Given the description of an element on the screen output the (x, y) to click on. 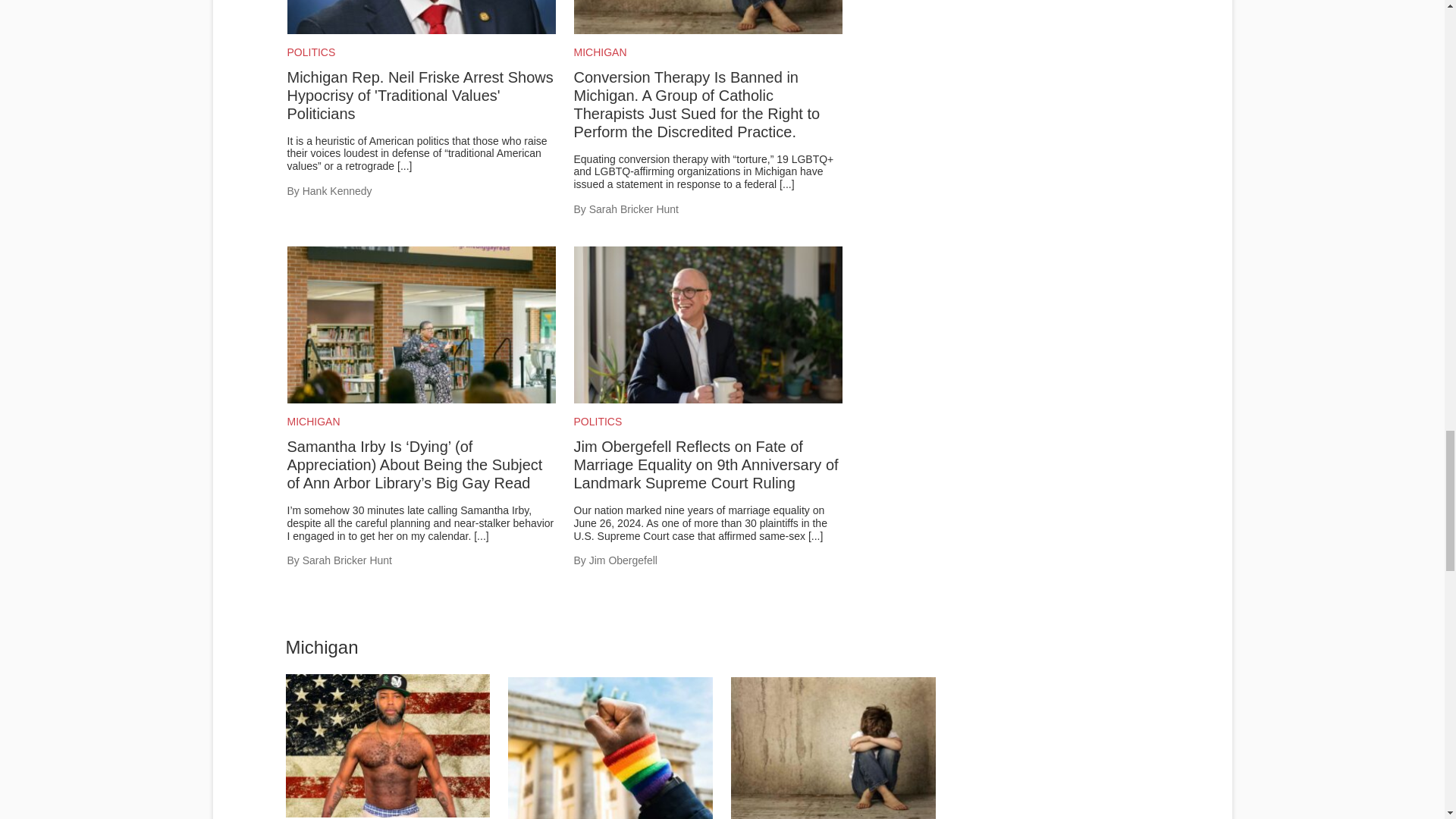
Read More (785, 184)
Read More (480, 535)
Read More (404, 165)
Read More (815, 535)
